Given the description of an element on the screen output the (x, y) to click on. 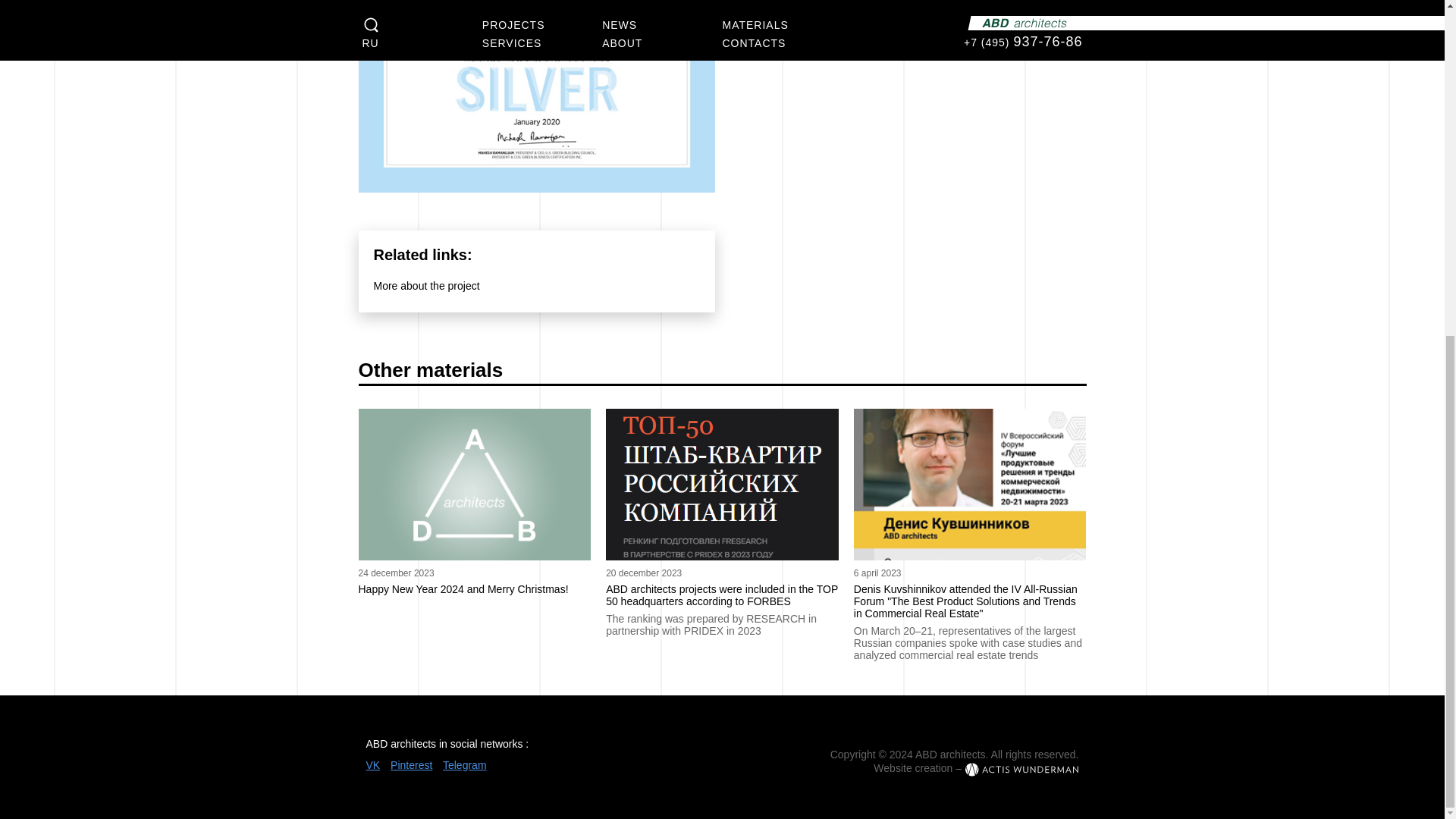
Telegram (464, 765)
More about the project (425, 285)
Happy New Year 2024 and Merry Christmas! (474, 589)
VK (372, 765)
Pinterest (411, 765)
